Given the description of an element on the screen output the (x, y) to click on. 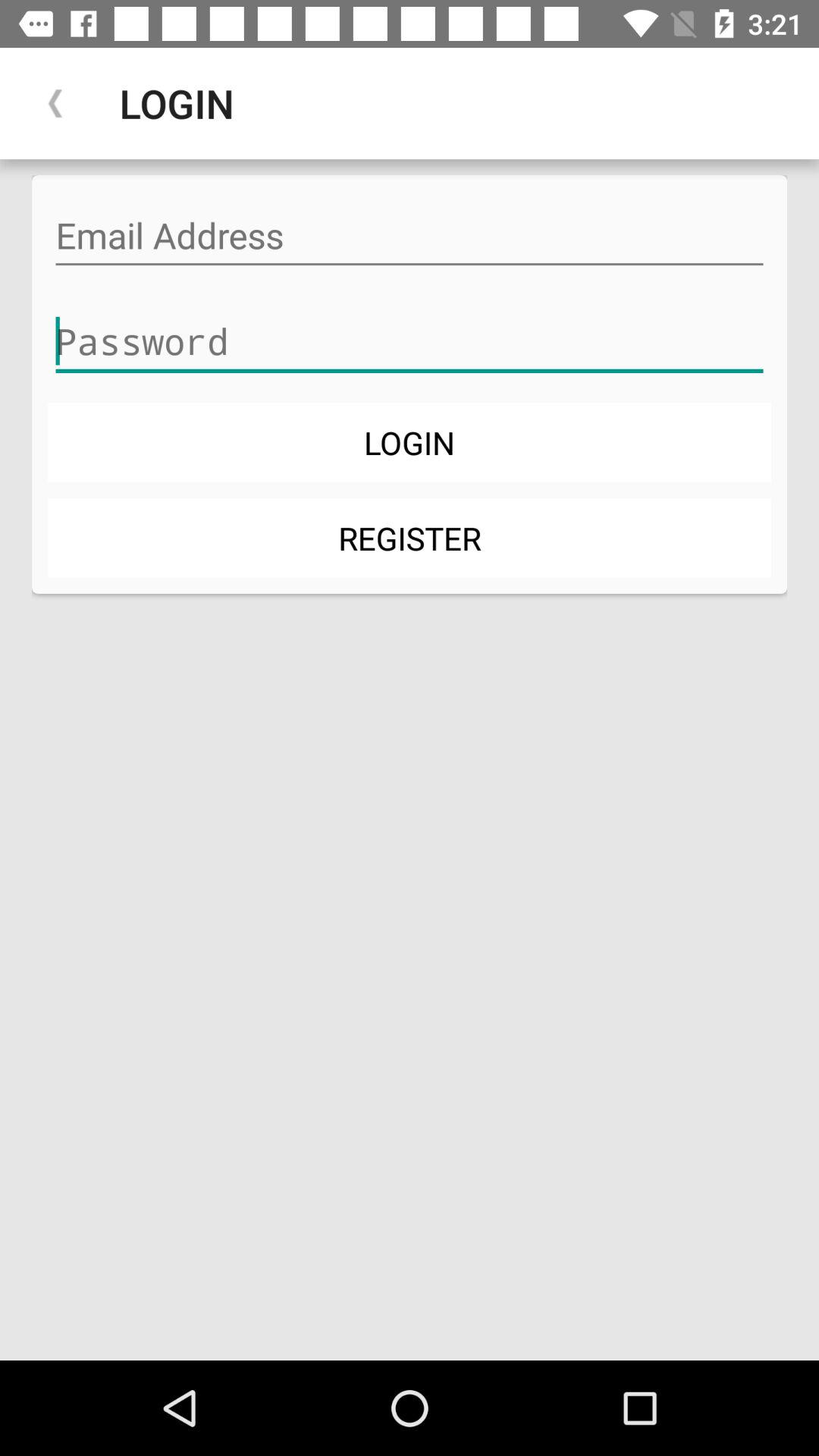
turn on item at the center (409, 537)
